Given the description of an element on the screen output the (x, y) to click on. 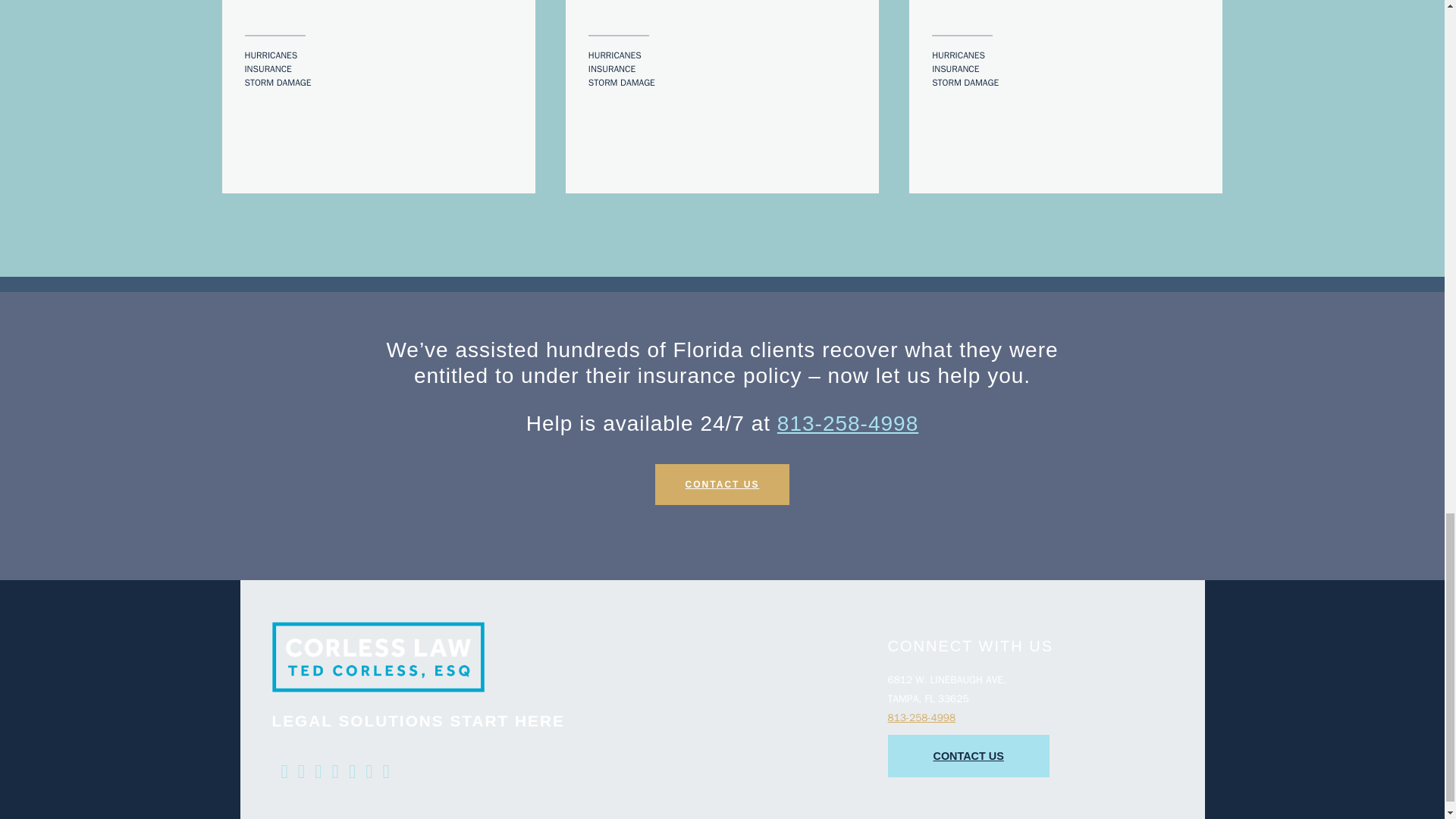
813-258-4998 (920, 717)
CONTACT US (967, 755)
813-258-4998 (847, 422)
CONTACT US (722, 484)
